Given the description of an element on the screen output the (x, y) to click on. 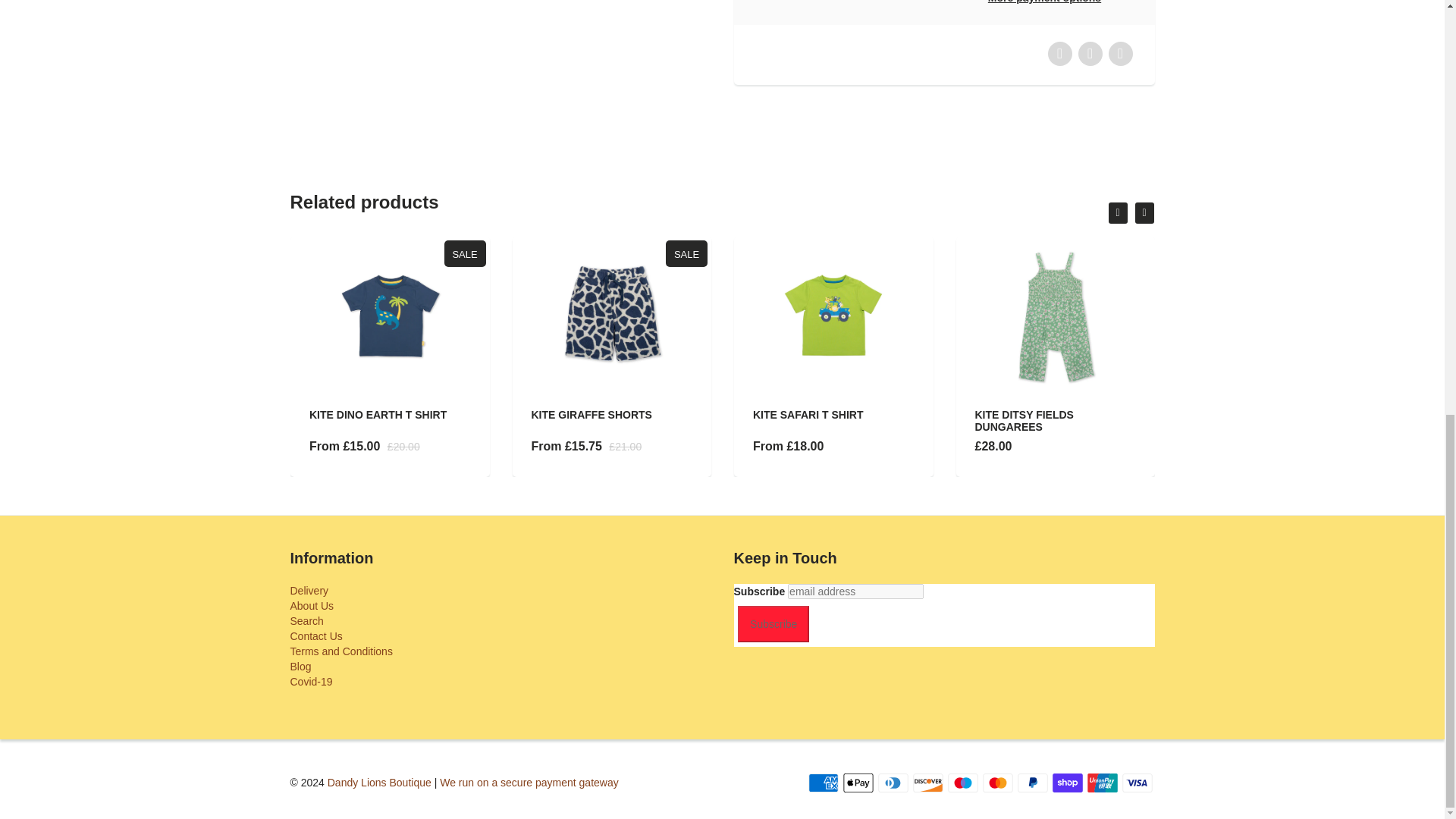
American Express (823, 782)
Diners Club (892, 782)
Apple Pay (858, 782)
Discover (927, 782)
Mastercard (997, 782)
Shop Pay (1067, 782)
Maestro (962, 782)
Visa (1137, 782)
Subscribe (773, 624)
PayPal (1032, 782)
Union Pay (1102, 782)
